Given the description of an element on the screen output the (x, y) to click on. 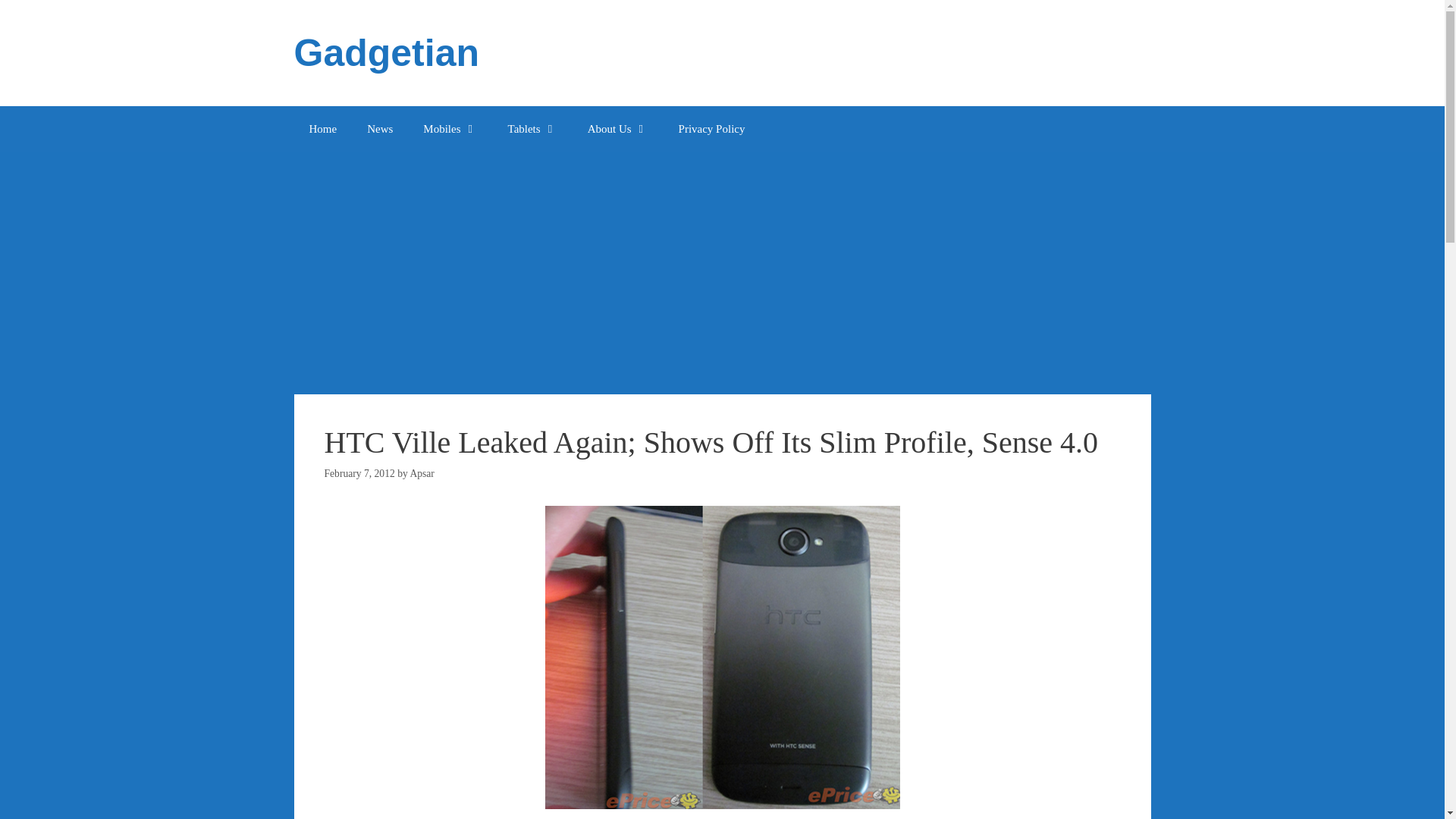
About Us (617, 128)
View all posts by Apsar (421, 473)
Home (323, 128)
HTC Ville Leaked Image (721, 657)
Tablets (532, 128)
Apsar (421, 473)
Gadgetian (386, 52)
News (379, 128)
Mobiles (449, 128)
